Given the description of an element on the screen output the (x, y) to click on. 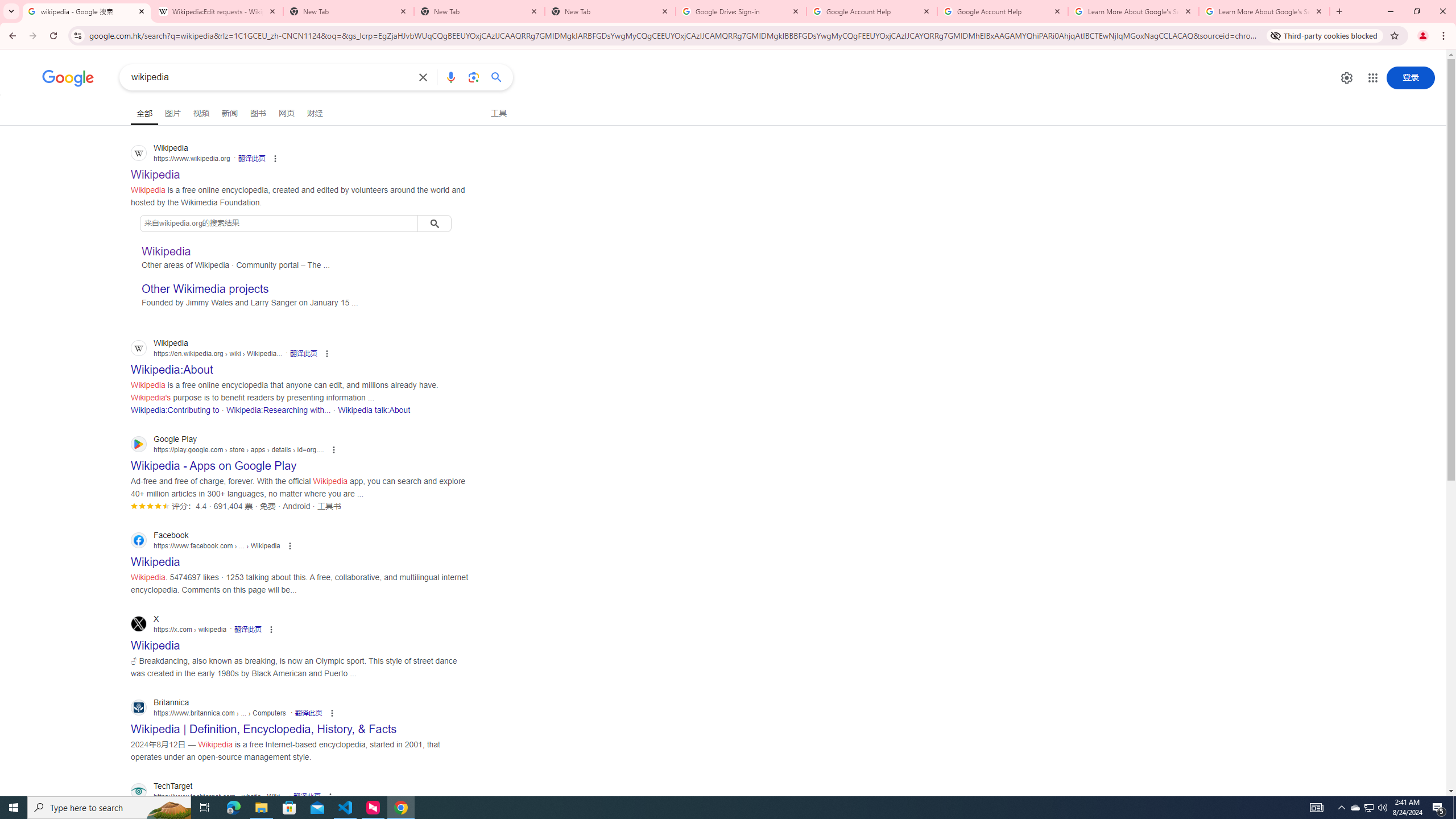
Wikipedia (165, 250)
Google Account Help (1002, 11)
New Tab (479, 11)
 Wikipedia Wikipedia https://www.wikipedia.org (155, 171)
